Given the description of an element on the screen output the (x, y) to click on. 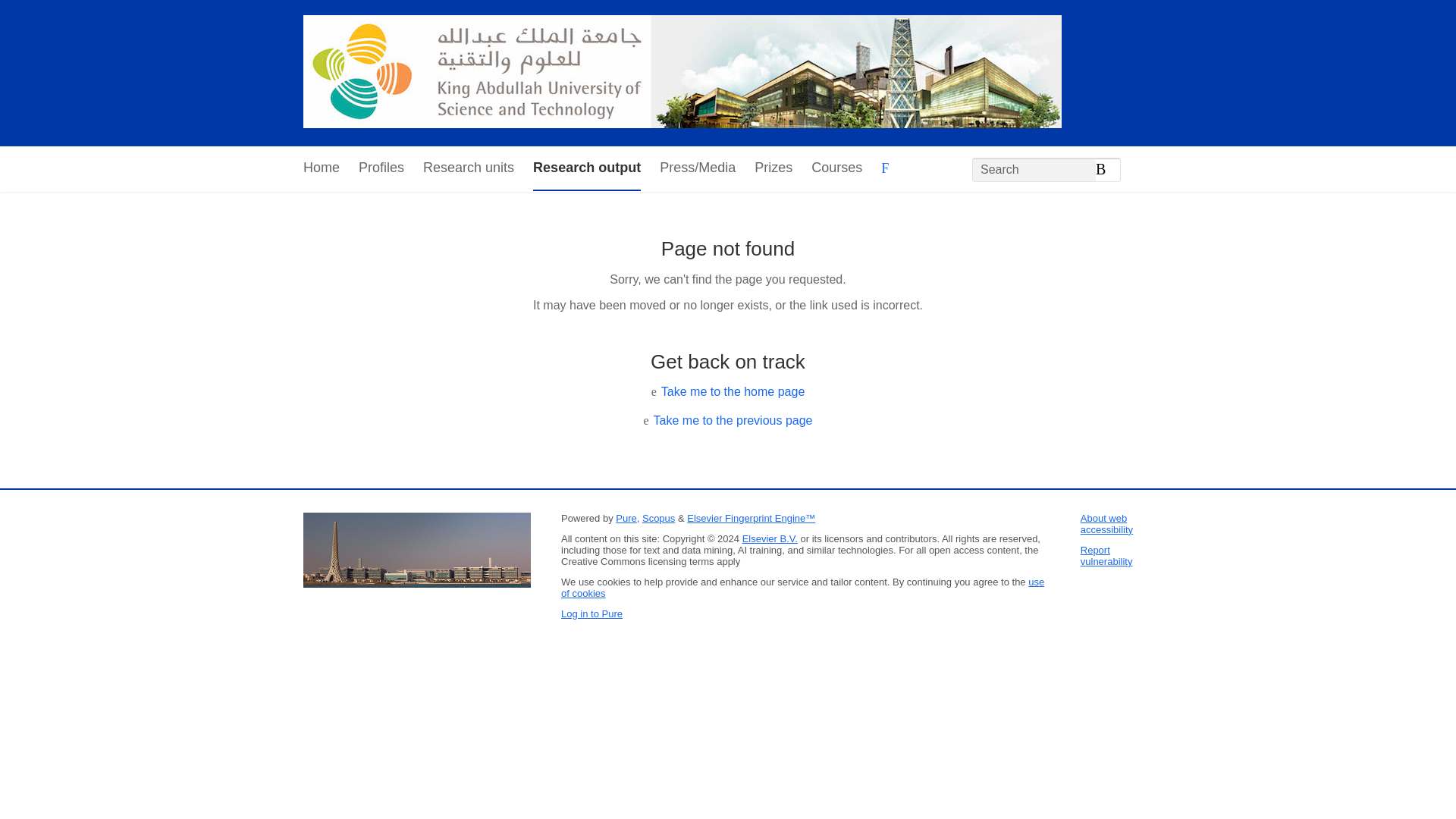
Prizes (773, 168)
Courses (835, 168)
Elsevier B.V. (769, 538)
Research output (586, 168)
Take me to the home page (733, 391)
Log in to Pure (591, 613)
KAUST PORTAL FOR RESEARCHERS AND STUDENTS Home (681, 73)
Take me to the previous page (732, 420)
Scopus (658, 518)
use of cookies (801, 587)
About web accessibility (1106, 523)
Profiles (381, 168)
Report vulnerability (1106, 555)
Pure (625, 518)
